Given the description of an element on the screen output the (x, y) to click on. 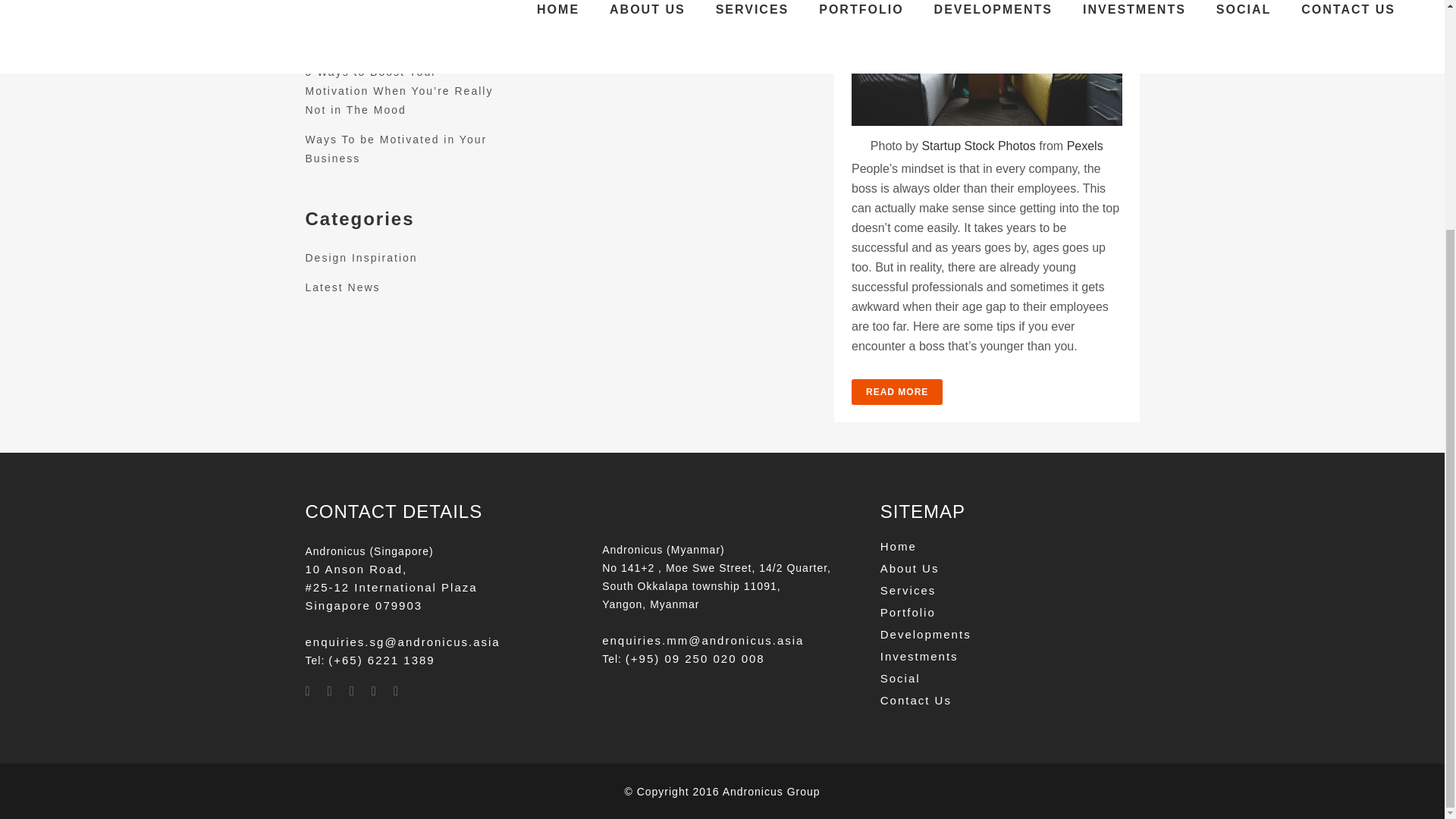
Ways To be Motivated in Your Business (395, 148)
Design Inspiration (360, 257)
Latest News (342, 287)
